Given the description of an element on the screen output the (x, y) to click on. 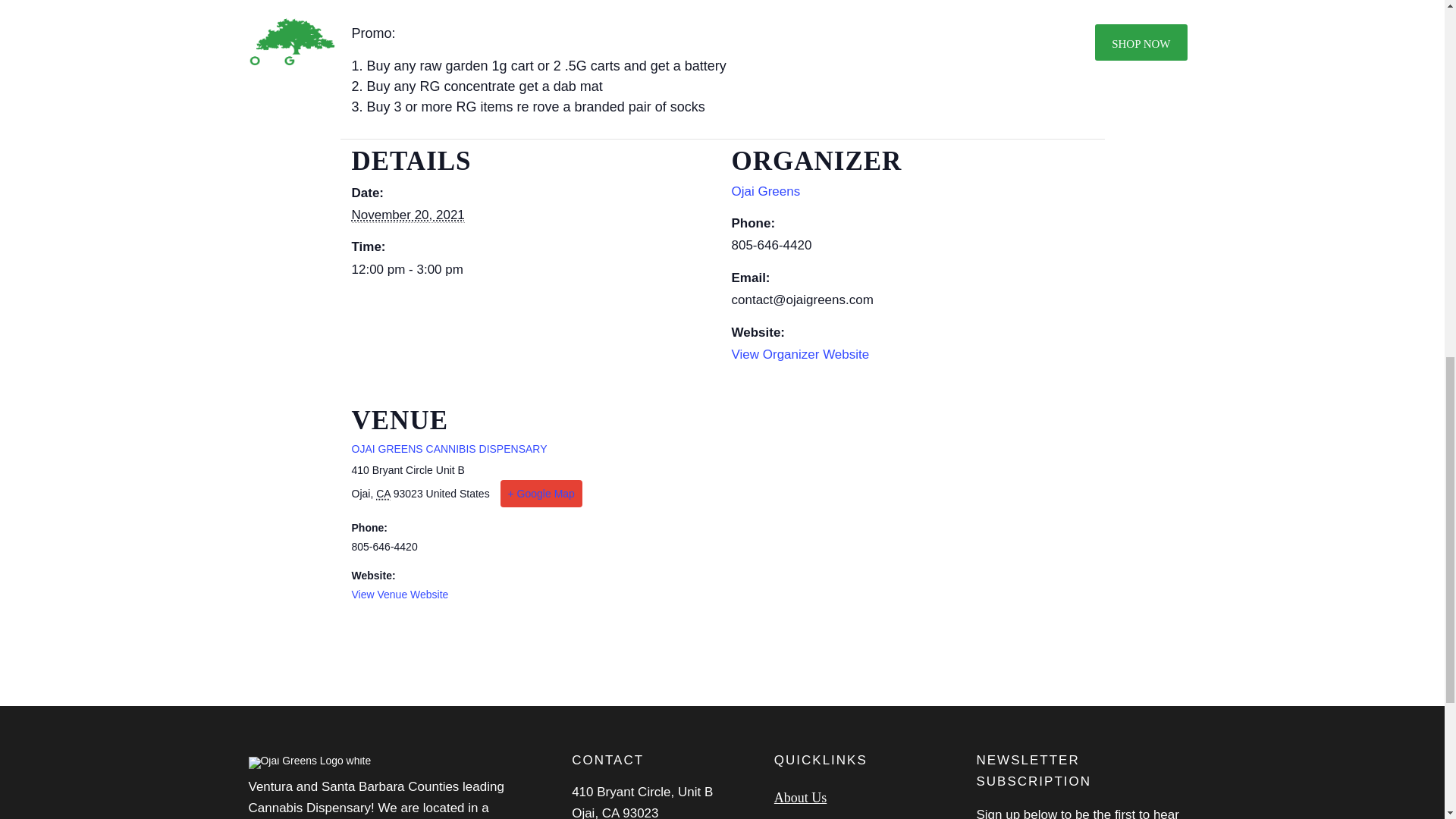
2021-11-20 (408, 215)
California (382, 493)
View Venue Website (400, 594)
OJAI GREENS CANNIBIS DISPENSARY (449, 449)
Ojai Greens (764, 191)
Ojai Greens (764, 191)
Contact Us (863, 816)
About Us (863, 798)
2021-11-20 (532, 270)
View Organizer Website (799, 354)
